Given the description of an element on the screen output the (x, y) to click on. 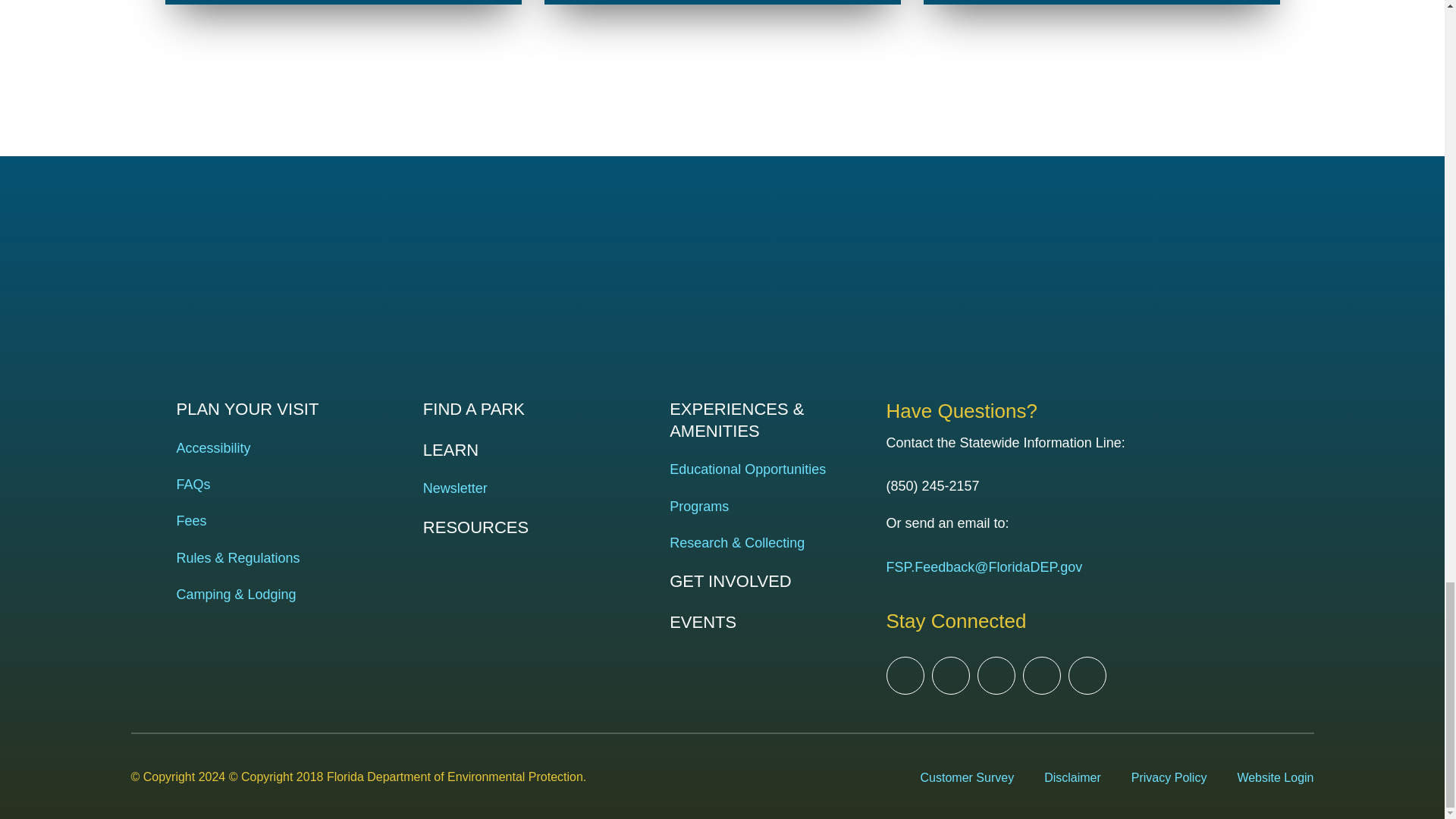
Newsletter (531, 488)
RESOURCES (531, 527)
Celebrate National Bird Day 2022 (722, 2)
Accessibility (283, 448)
FIND A PARK (531, 409)
PLAN YOUR VISIT (283, 409)
Florida Scrub-Jay (1101, 2)
LEARN (531, 450)
Sharing the Beach with Nesting Wildlife (343, 2)
Fees (283, 520)
FAQs (283, 484)
